Given the description of an element on the screen output the (x, y) to click on. 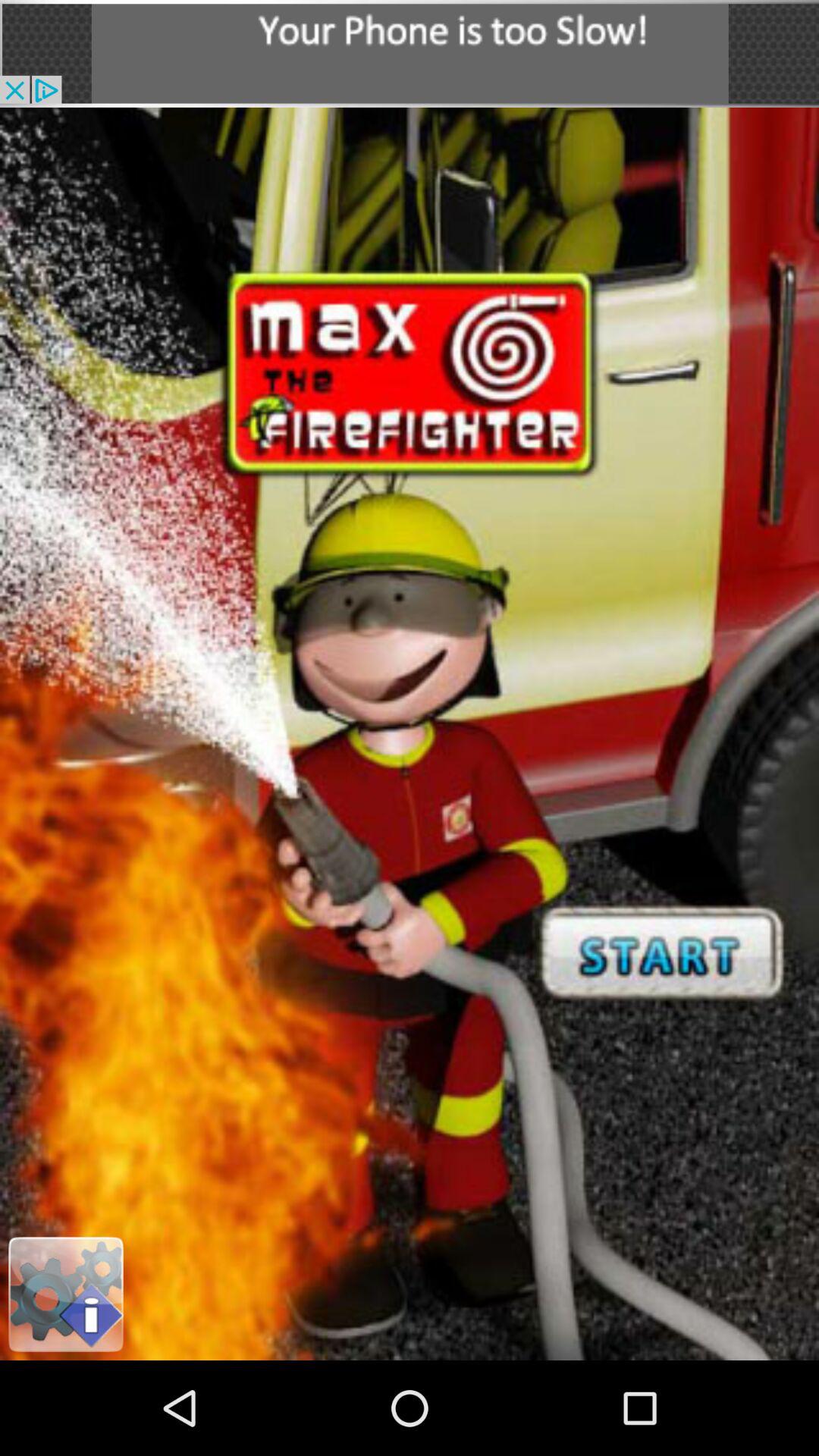
start (409, 733)
